Given the description of an element on the screen output the (x, y) to click on. 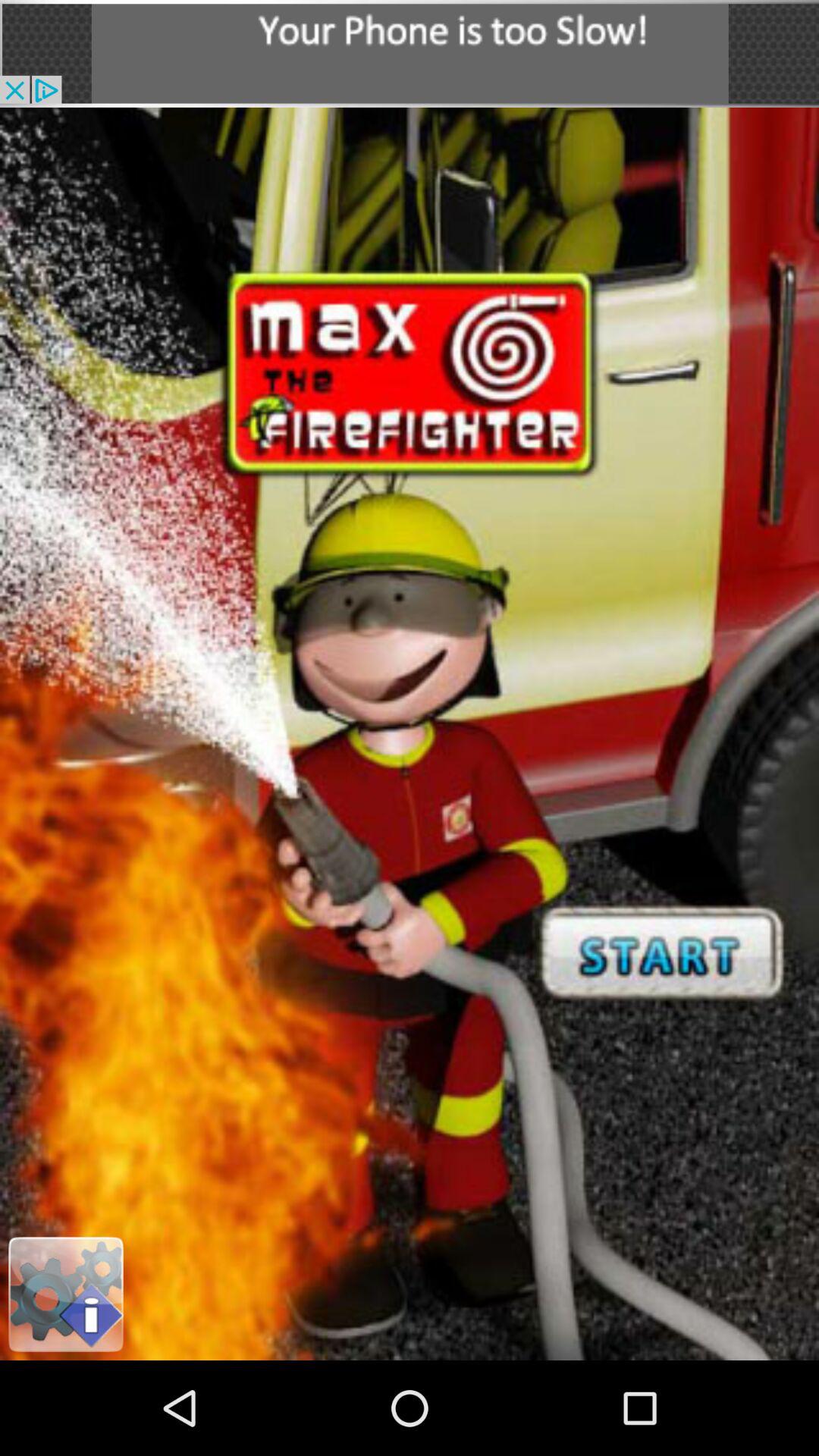
start (409, 733)
